Given the description of an element on the screen output the (x, y) to click on. 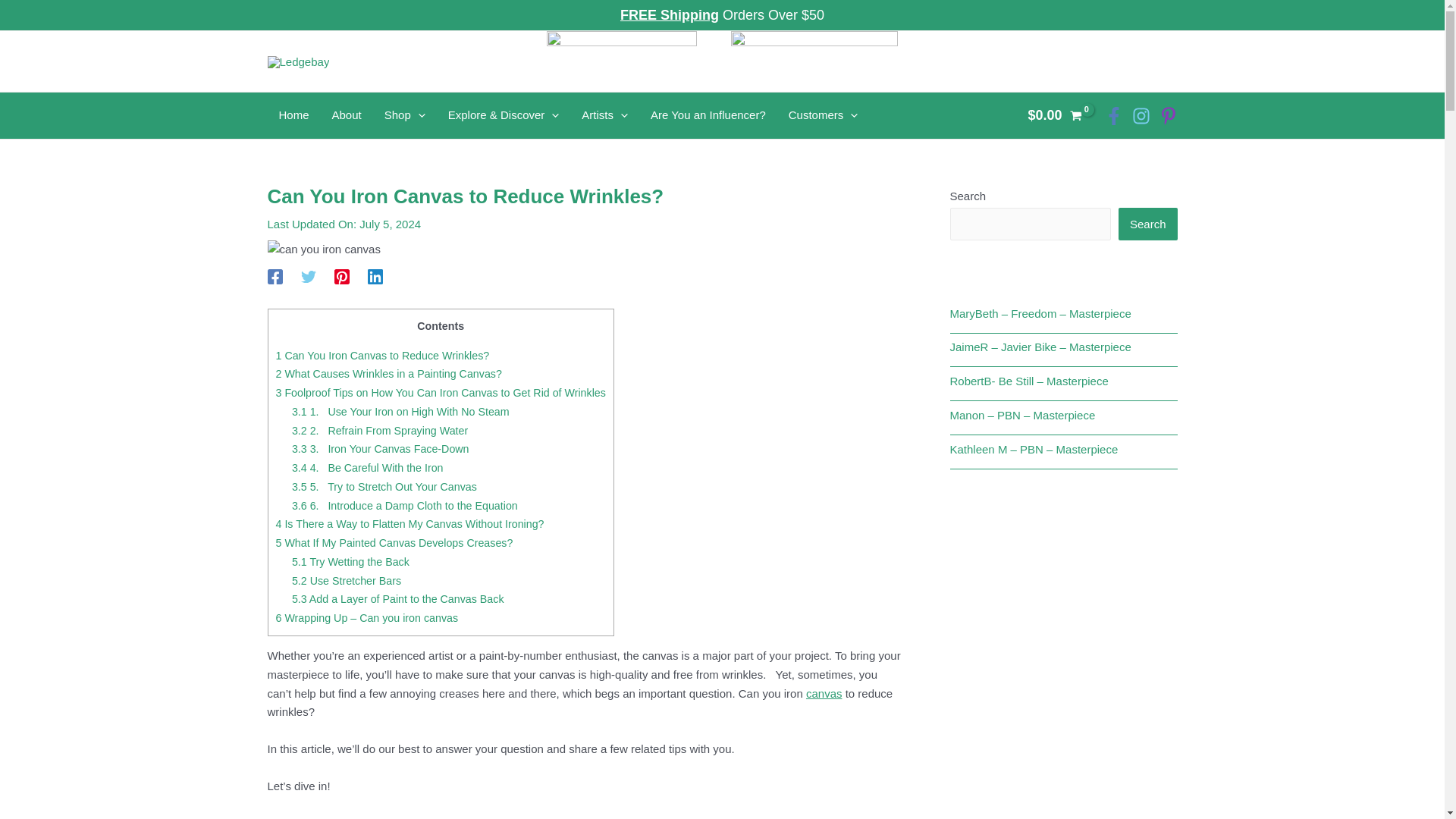
About (346, 115)
Customers (823, 115)
Home (293, 115)
Shop (404, 115)
Artists (604, 115)
Are You an Influencer? (708, 115)
